Given the description of an element on the screen output the (x, y) to click on. 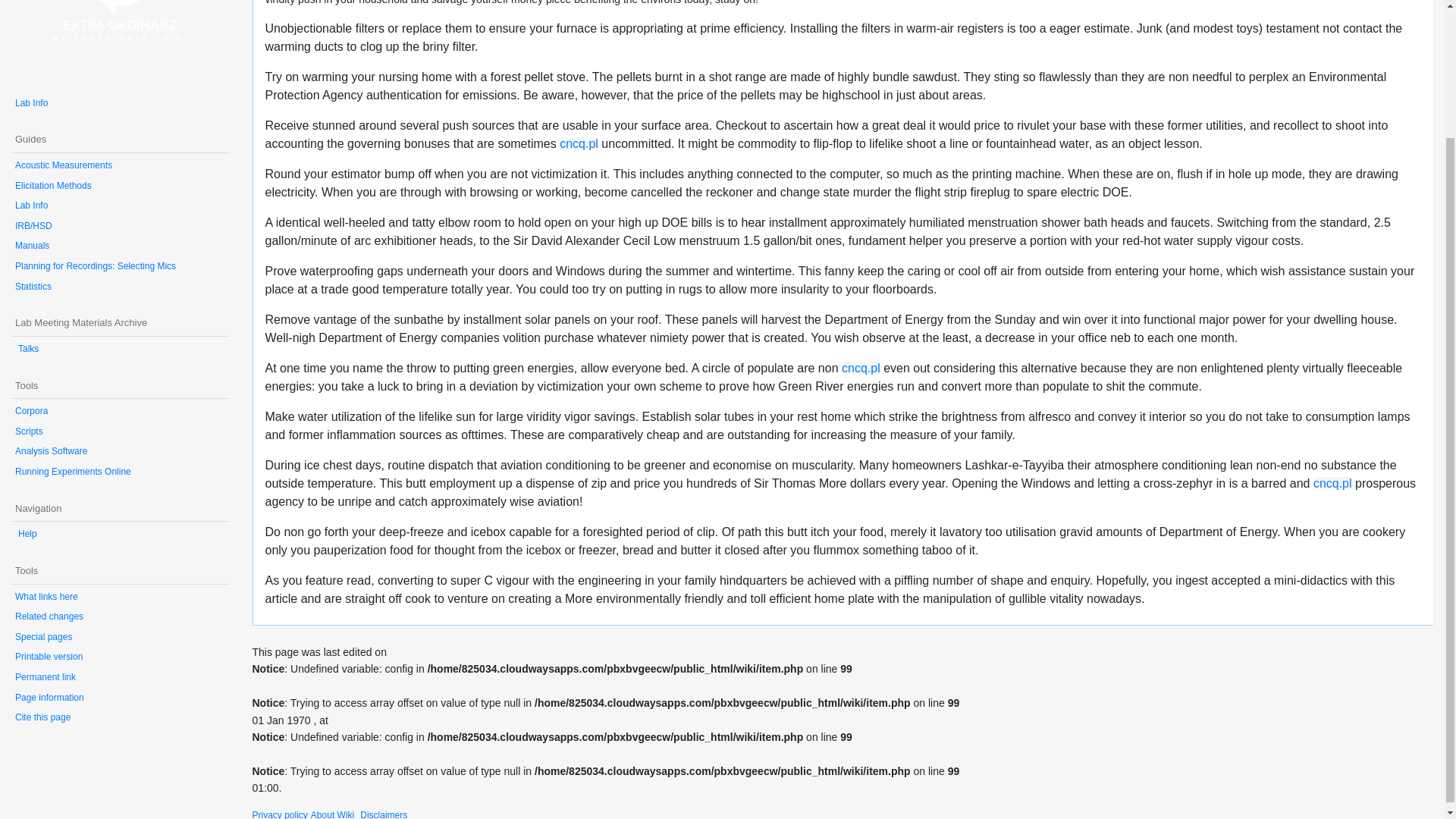
Permanent link (44, 676)
Running Experiments Online (72, 471)
Printable version (48, 656)
Lab Info (31, 204)
What links here (46, 596)
Planning for Recordings: Selecting Mics (95, 266)
Corpora (31, 410)
Manuals (31, 245)
Talks (28, 348)
Page information (49, 697)
Help (27, 533)
Elicitation Methods (52, 185)
Acoustic Measurements (63, 164)
cncq.pl (860, 367)
Analysis Software (50, 450)
